Given the description of an element on the screen output the (x, y) to click on. 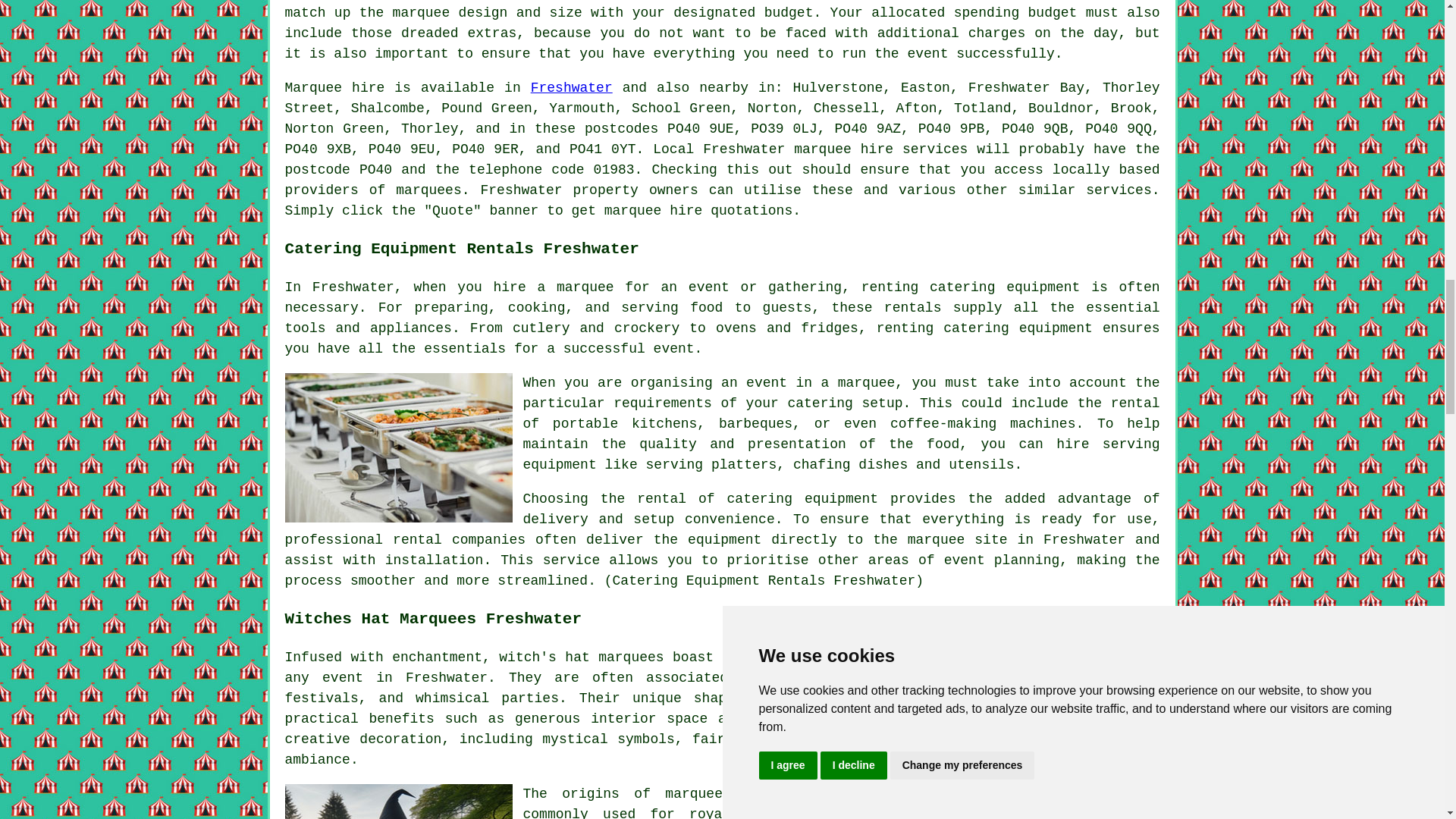
the marquee (404, 12)
marquees (428, 190)
budget (788, 12)
Marquee hire (335, 87)
marquee hire (843, 149)
